Given the description of an element on the screen output the (x, y) to click on. 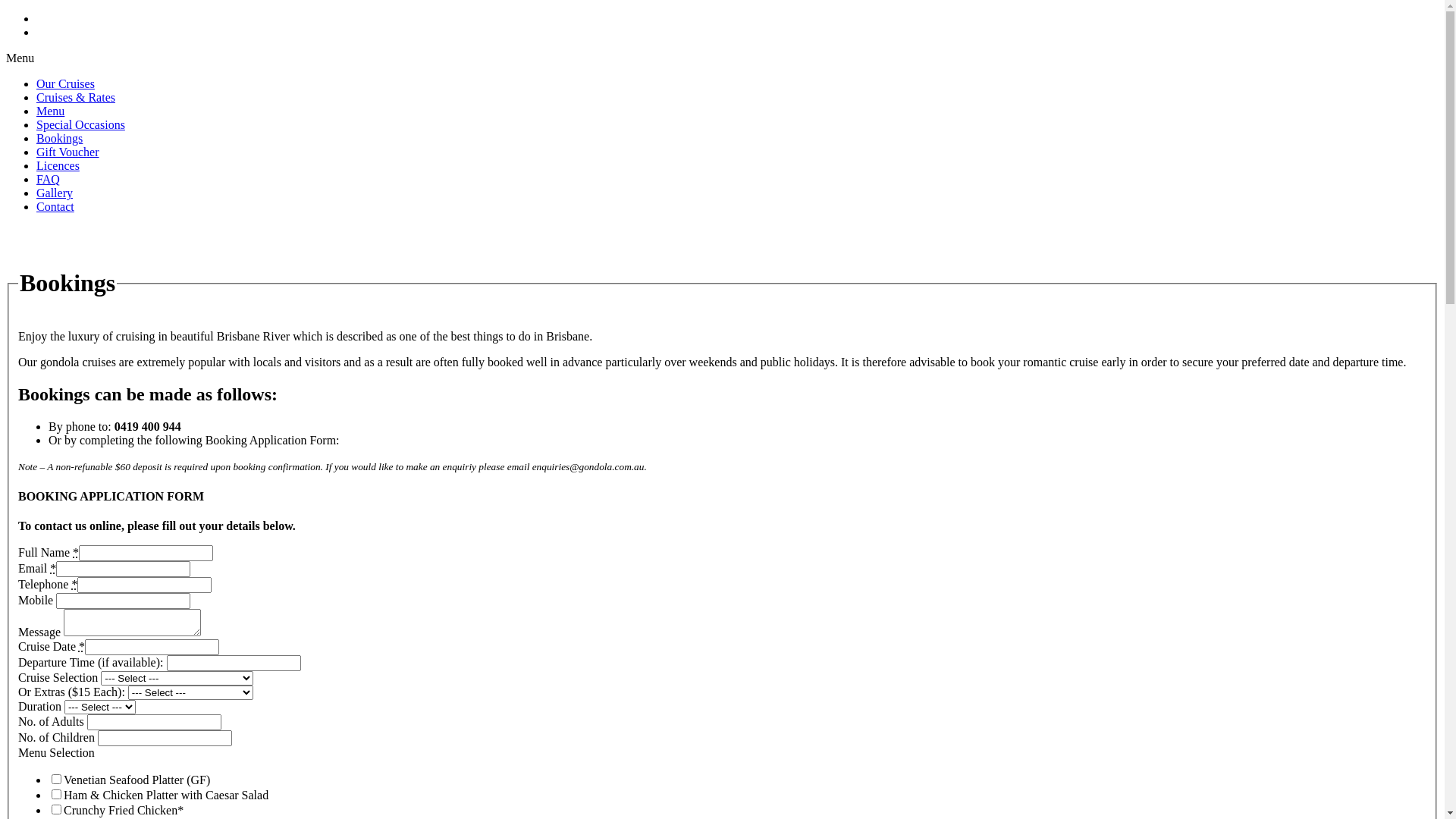
Cruises & Rates Element type: text (75, 97)
Special Occasions Element type: text (80, 124)
Gift Voucher Element type: text (67, 151)
Menu Element type: text (50, 110)
Contact Element type: text (55, 206)
FAQ Element type: text (47, 178)
Licences Element type: text (57, 165)
Our Cruises Element type: text (65, 83)
Gallery Element type: text (54, 192)
Bookings Element type: text (59, 137)
